Given the description of an element on the screen output the (x, y) to click on. 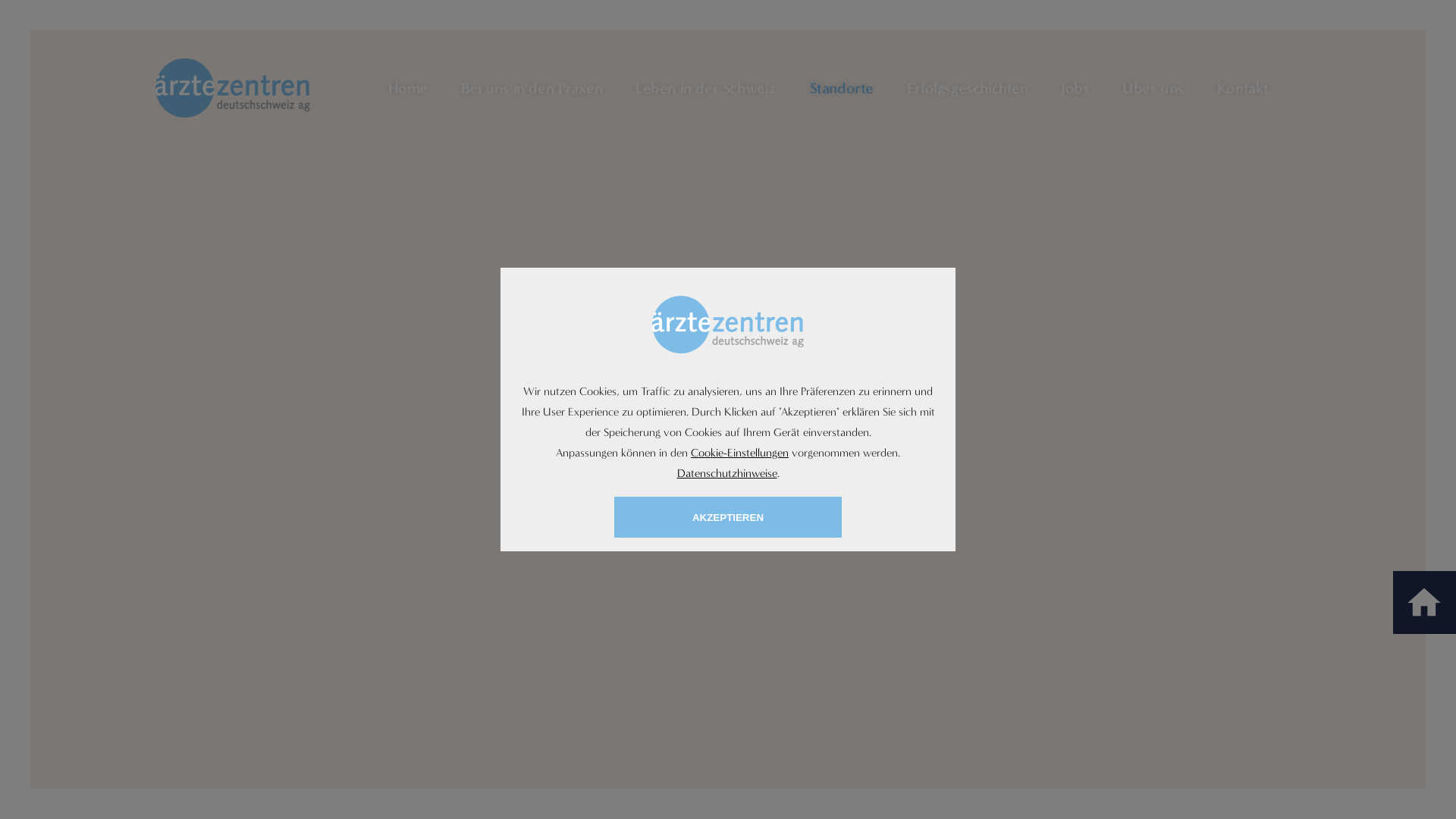
Erfolgsgeschichten Element type: text (967, 87)
Bei uns in den Praxen Element type: text (531, 87)
Jobs Element type: text (1074, 87)
Standorte Element type: text (841, 87)
Home Element type: text (407, 87)
Kontakt Element type: text (1242, 87)
Leben in der Schweiz Element type: text (705, 87)
